Given the description of an element on the screen output the (x, y) to click on. 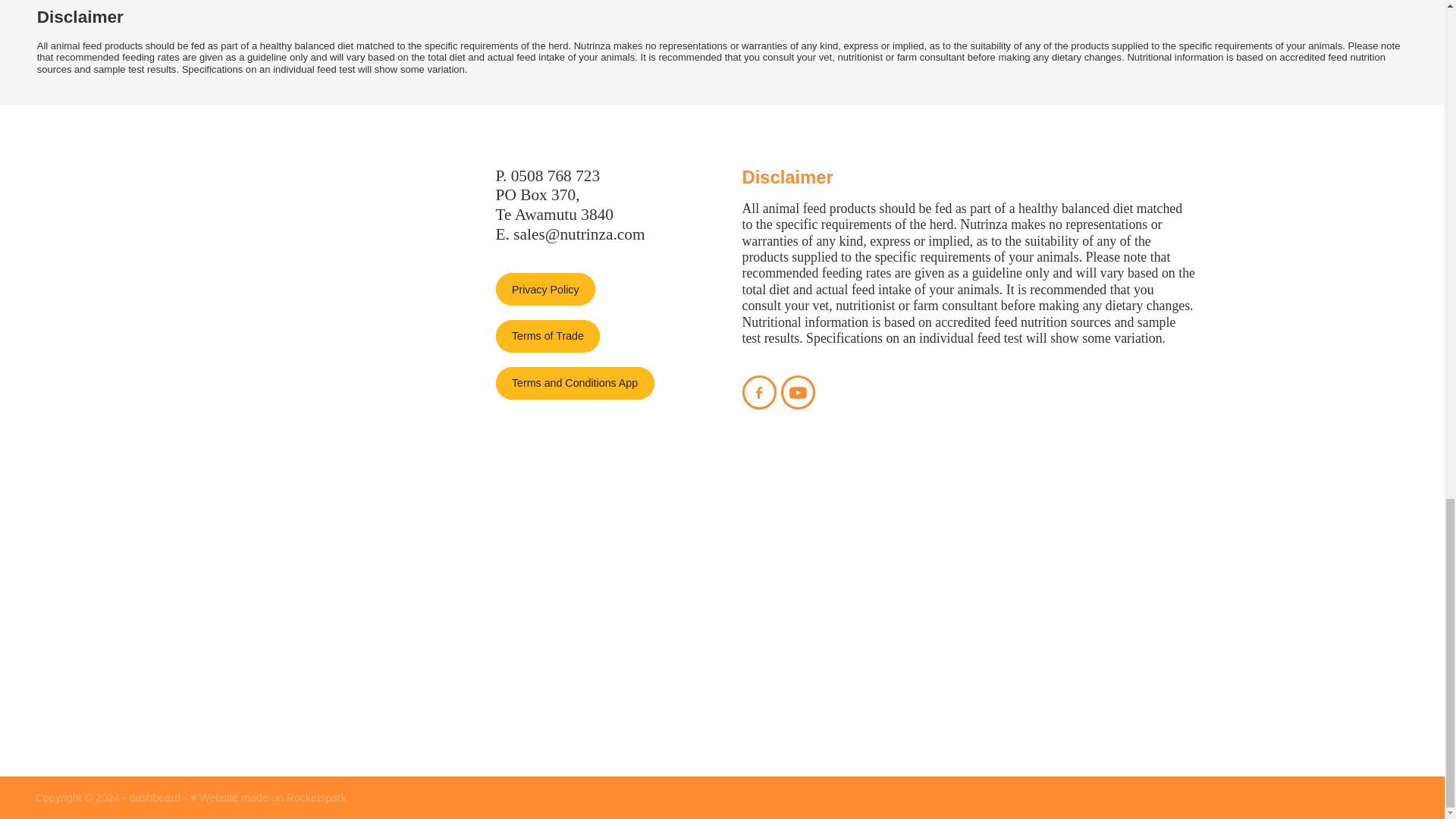
Terms and Conditions App (574, 382)
A link to this website's Facebook. (758, 392)
Privacy Policy (545, 288)
Terms of Trade (547, 336)
A link to this website's Youtube. (797, 392)
